Given the description of an element on the screen output the (x, y) to click on. 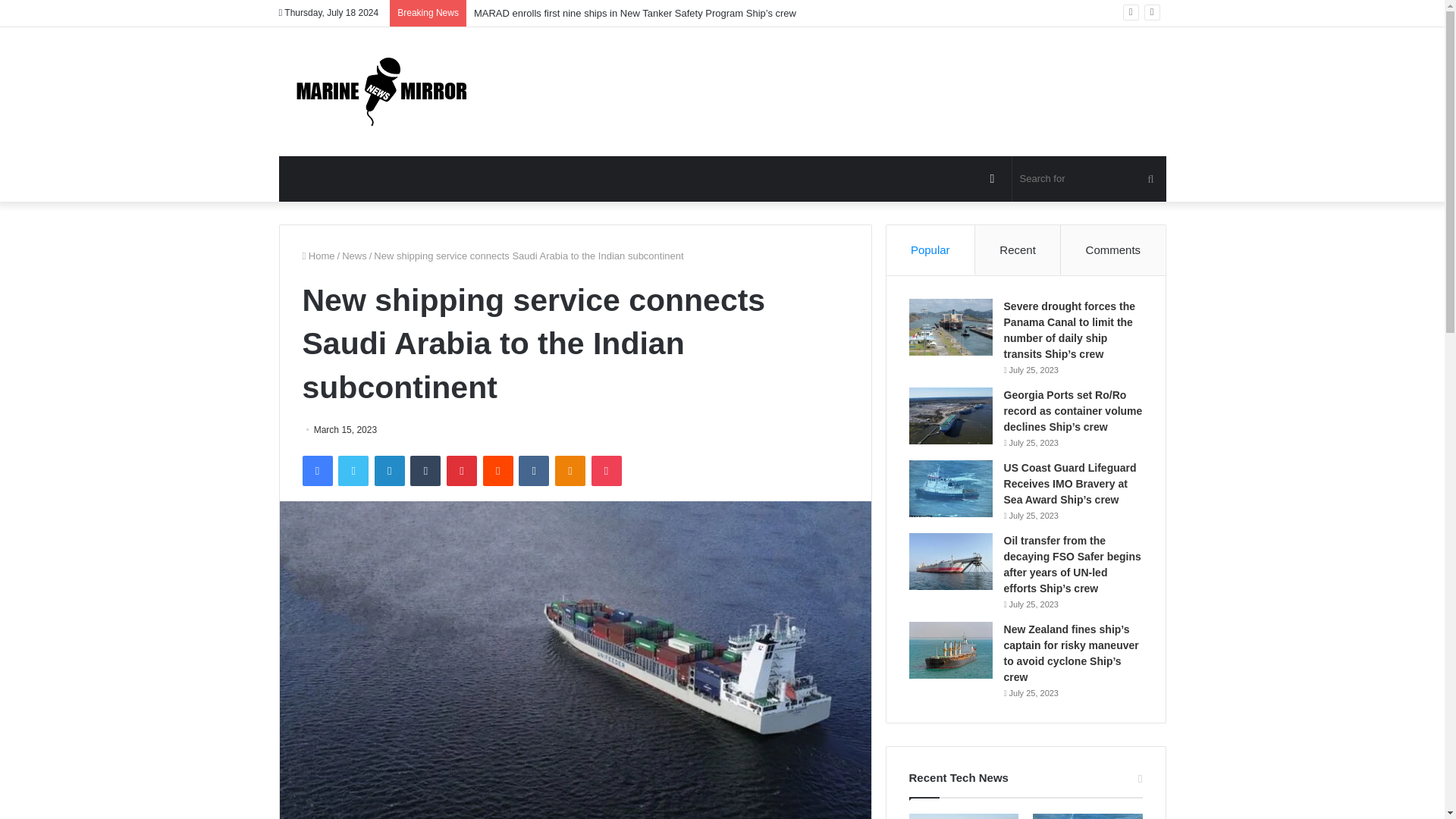
LinkedIn (389, 470)
News (354, 255)
VKontakte (533, 470)
marinemirror.com (381, 91)
Reddit (498, 470)
Tumblr (425, 470)
Home (317, 255)
Facebook (316, 470)
Tumblr (425, 470)
VKontakte (533, 470)
LinkedIn (389, 470)
Twitter (352, 470)
Odnoklassniki (569, 470)
Pocket (606, 470)
Pocket (606, 470)
